Given the description of an element on the screen output the (x, y) to click on. 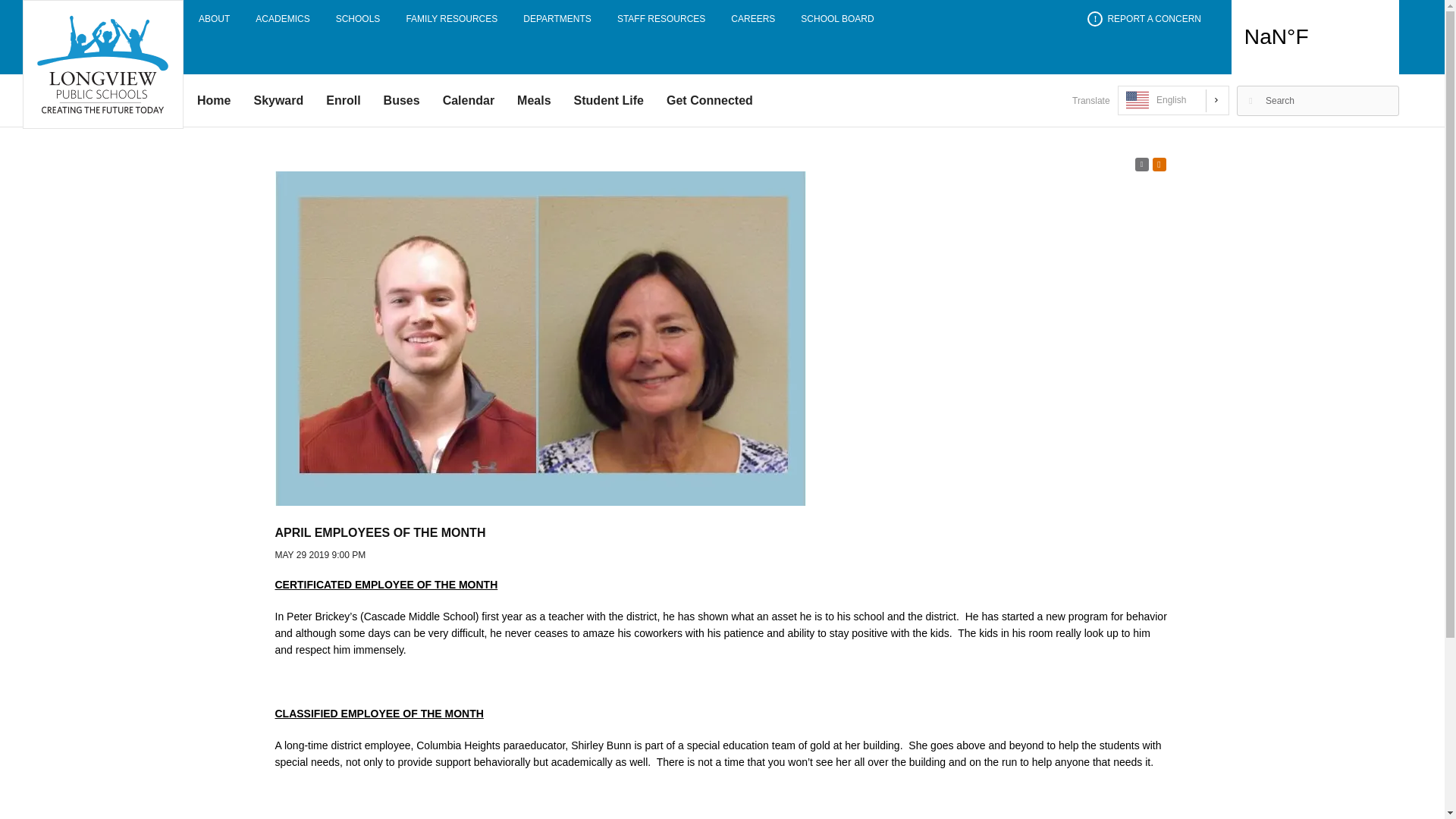
Weather Widget (1315, 37)
RSS (1141, 164)
Alerts (1159, 164)
